Given the description of an element on the screen output the (x, y) to click on. 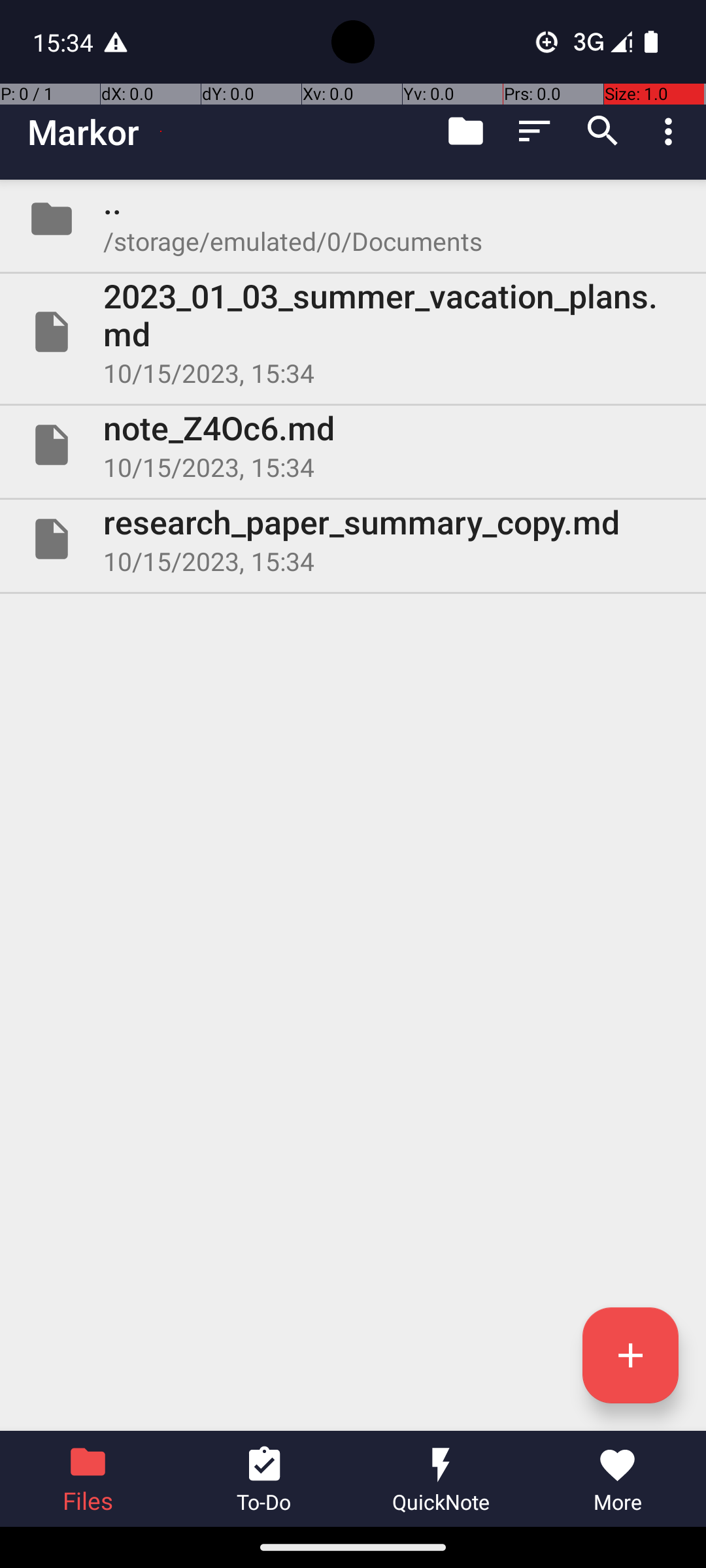
File 2023_01_03_summer_vacation_plans.md  Element type: android.widget.LinearLayout (353, 331)
File note_Z4Oc6.md  Element type: android.widget.LinearLayout (353, 444)
File research_paper_summary_copy.md  Element type: android.widget.LinearLayout (353, 538)
